Given the description of an element on the screen output the (x, y) to click on. 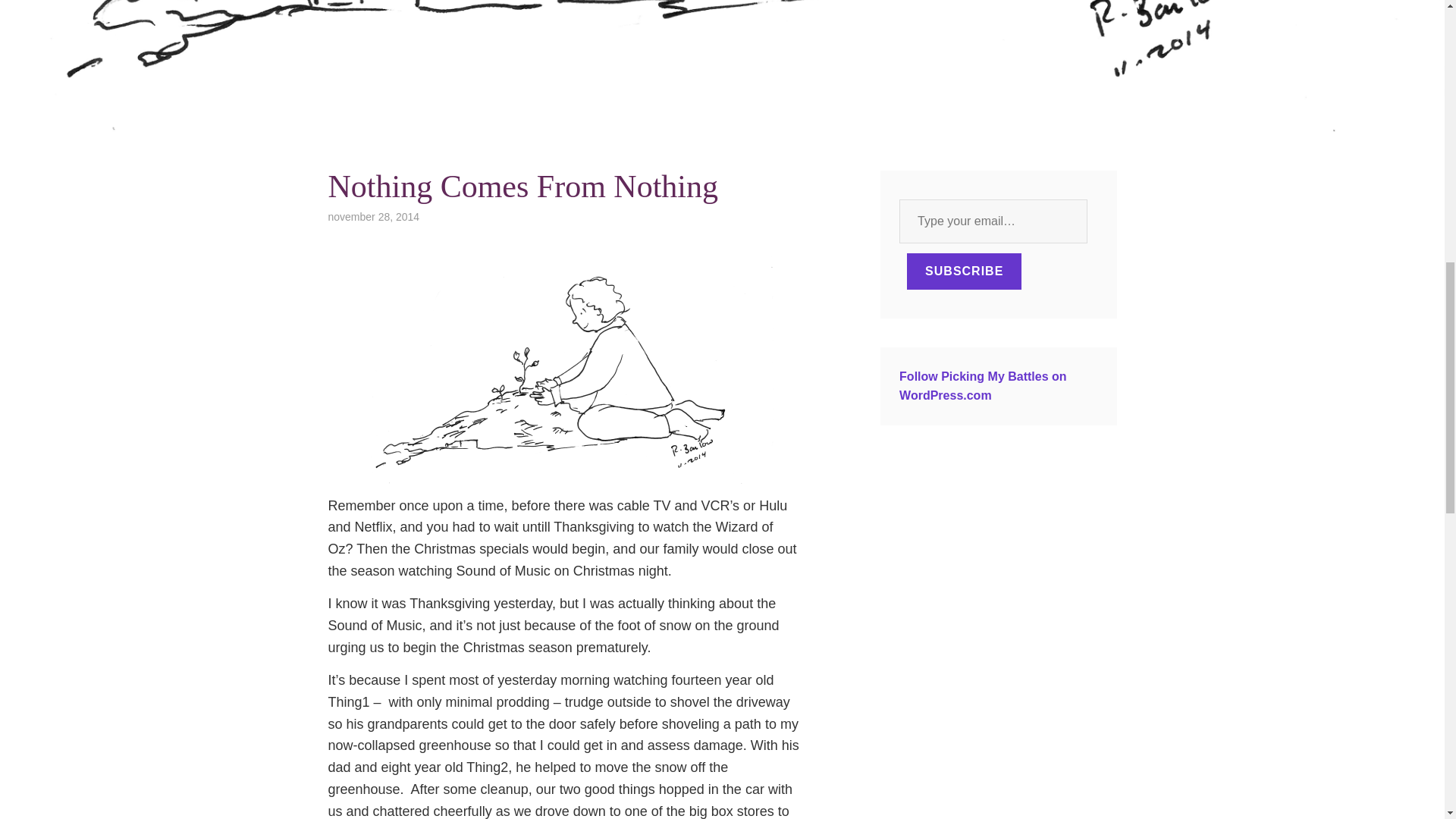
SUBSCRIBE (964, 271)
Follow Picking My Battles on WordPress.com (982, 386)
november 28, 2014 (373, 216)
Please fill in this field. (993, 221)
